Given the description of an element on the screen output the (x, y) to click on. 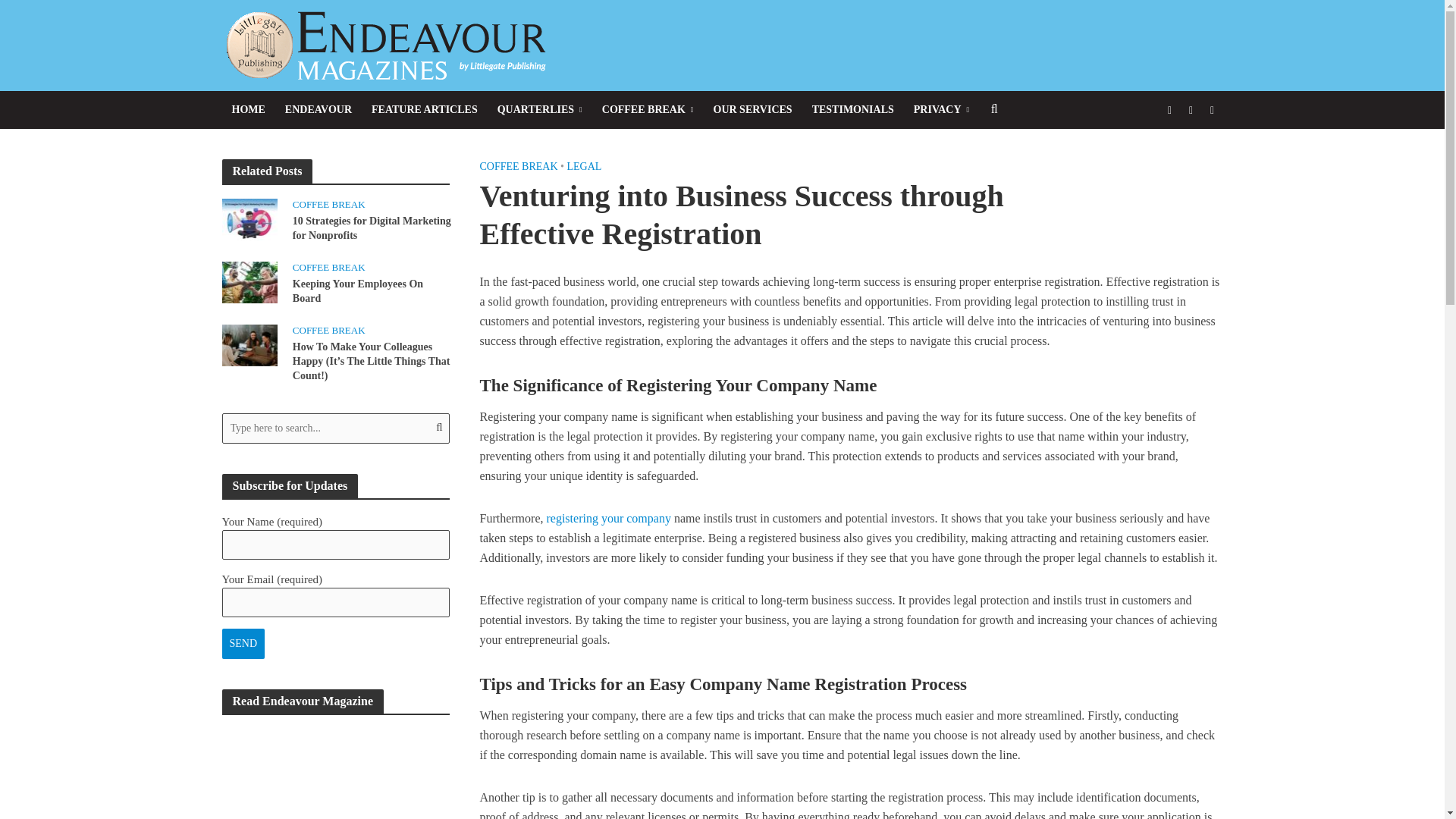
TESTIMONIALS (853, 109)
Keeping Your Employees On Board (248, 281)
HOME (248, 109)
Send (242, 643)
PRIVACY (941, 109)
QUARTERLIES (539, 109)
10 Strategies for Digital Marketing for Nonprofits (248, 218)
OUR SERVICES (752, 109)
FEATURE ARTICLES (424, 109)
COFFEE BREAK (647, 109)
ENDEAVOUR (318, 109)
